Given the description of an element on the screen output the (x, y) to click on. 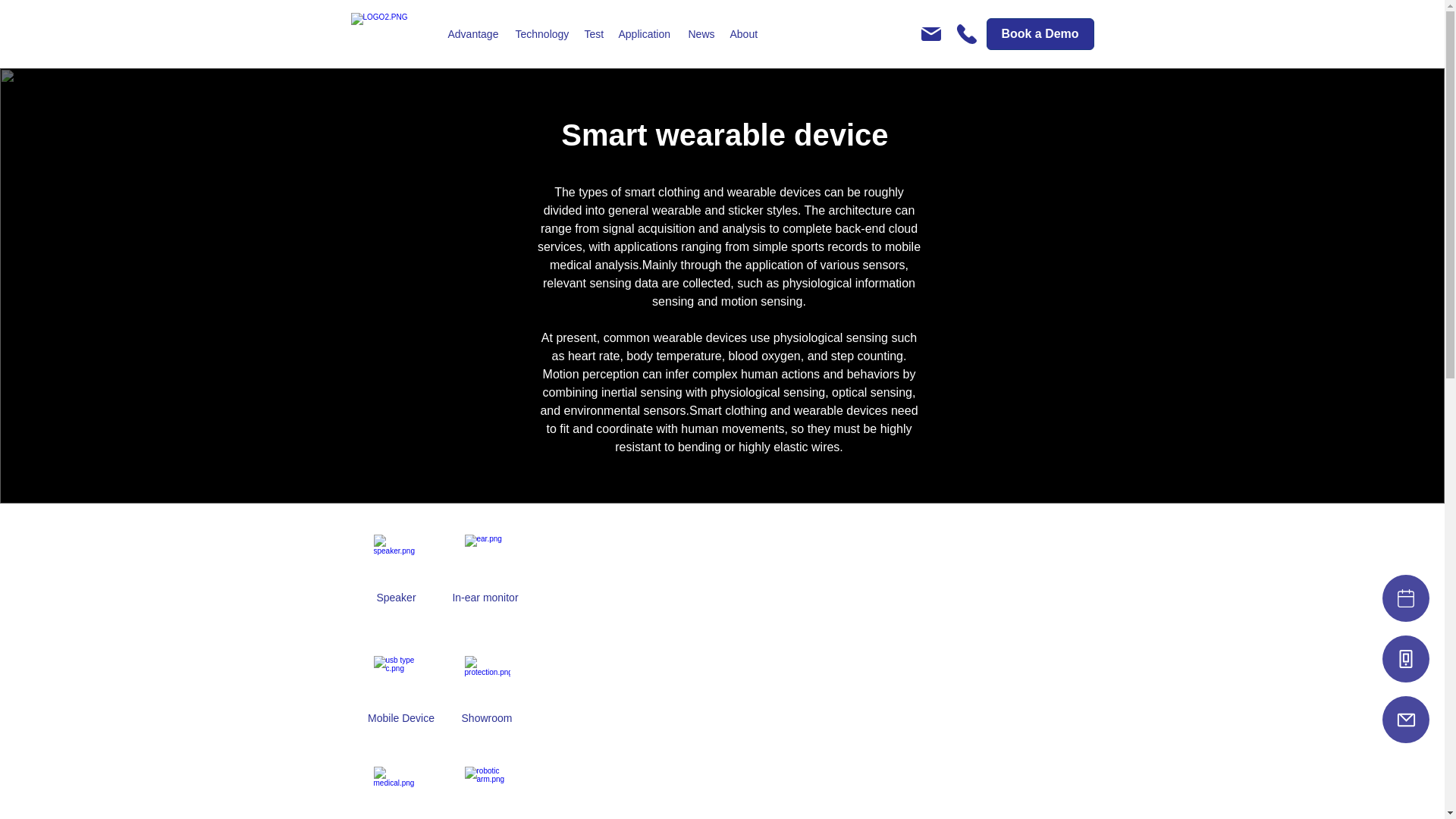
Speaker (394, 597)
Application (646, 33)
Technology (542, 33)
Book a Demo (1039, 33)
In-ear monitor (484, 597)
News (701, 33)
